Given the description of an element on the screen output the (x, y) to click on. 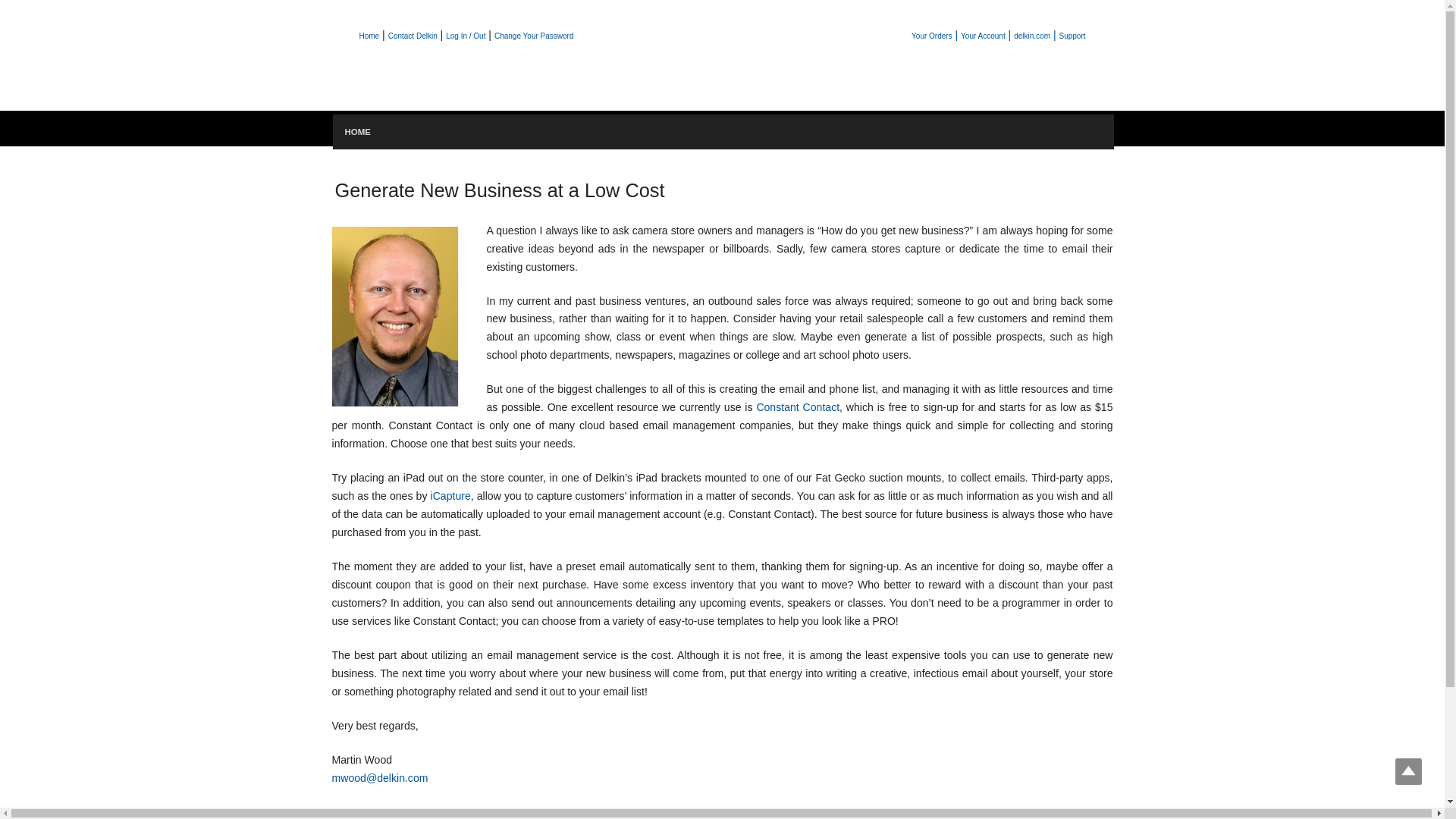
iCapture (450, 495)
Scroll to Top (1408, 771)
HOME (356, 131)
Your Orders (931, 35)
delkin.com (1031, 35)
Support (1071, 35)
Your Account (983, 35)
Contact Delkin (413, 35)
Change Your Password (534, 35)
Constant Contact (797, 407)
